Given the description of an element on the screen output the (x, y) to click on. 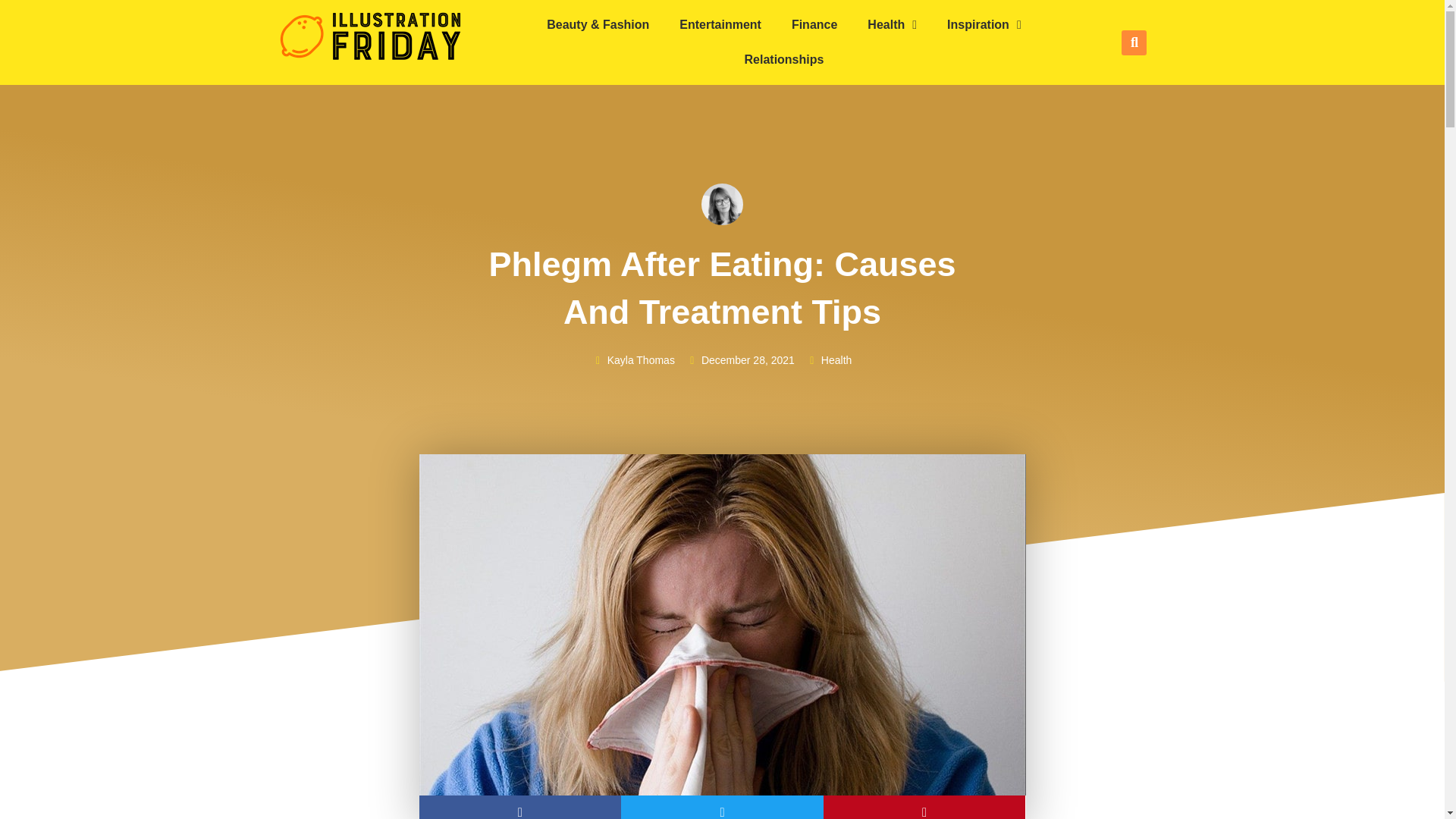
Inspiration (983, 24)
Finance (813, 24)
Health (891, 24)
Health (836, 359)
Entertainment (719, 24)
Health (891, 24)
Relationships (784, 59)
Relationships (784, 59)
Finance (813, 24)
Entertainment (719, 24)
